Given the description of an element on the screen output the (x, y) to click on. 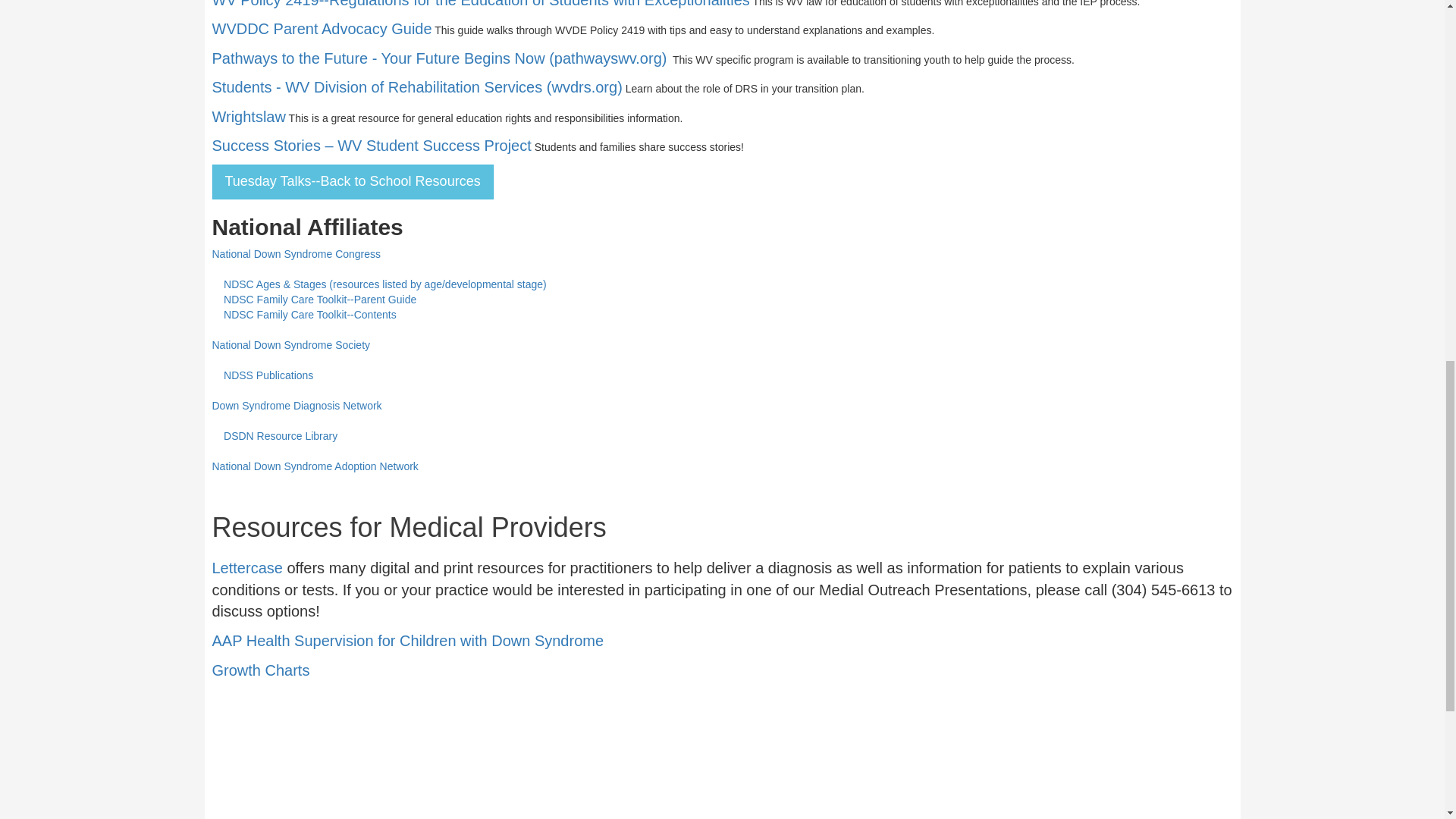
NDSS Publications (268, 375)
NDSC Family Care Toolkit--Parent Guide (320, 299)
WVDDC Parent Advocacy Guide (322, 30)
National Down Syndrome Congress (296, 254)
Wrightslaw (248, 118)
NDSC Family Care Toolkit--Contents (310, 314)
National Down Syndrome Society (291, 345)
Tuesday Talks--Back to School Resources (352, 181)
